Given the description of an element on the screen output the (x, y) to click on. 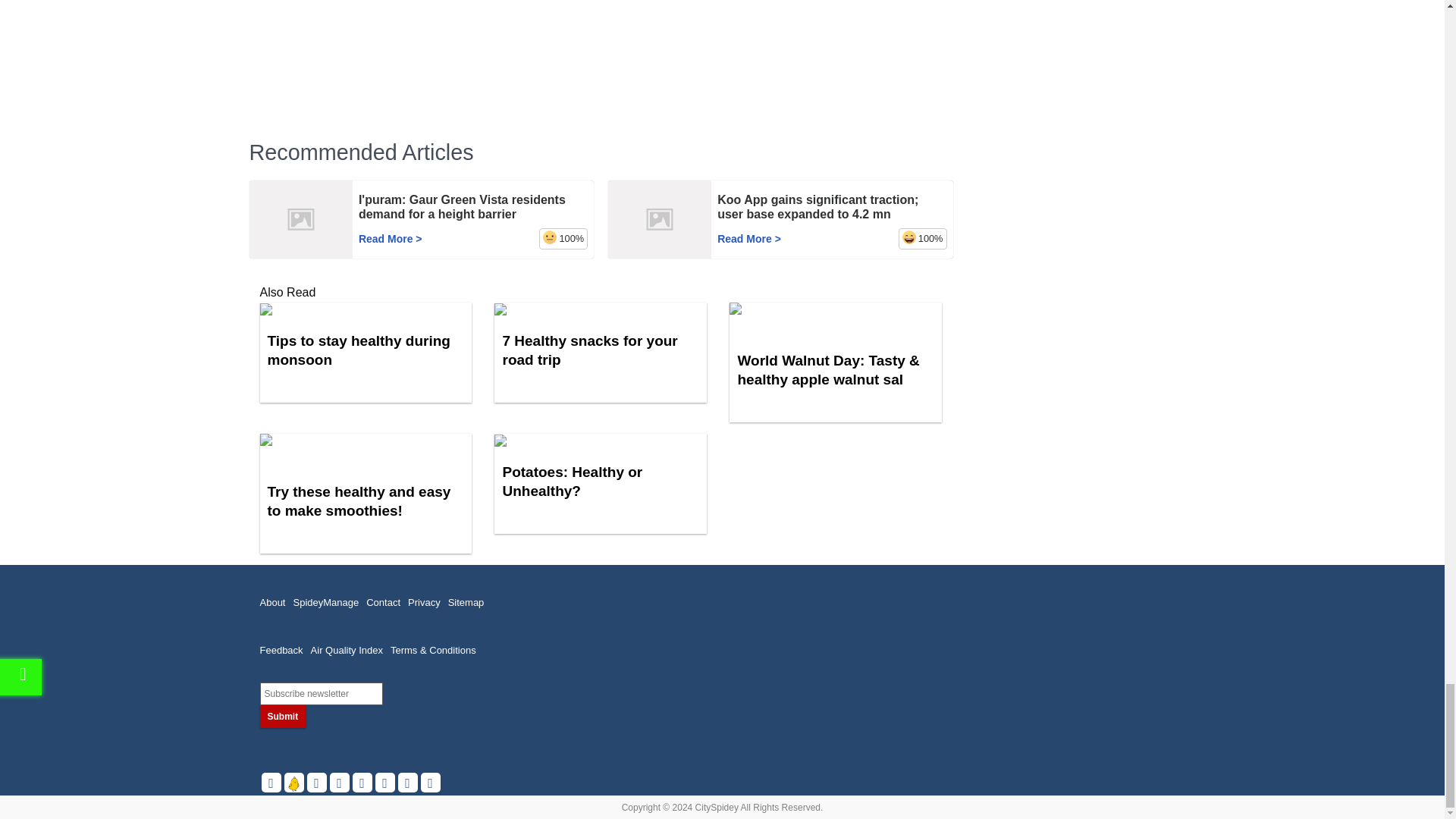
Submit (282, 716)
